Given the description of an element on the screen output the (x, y) to click on. 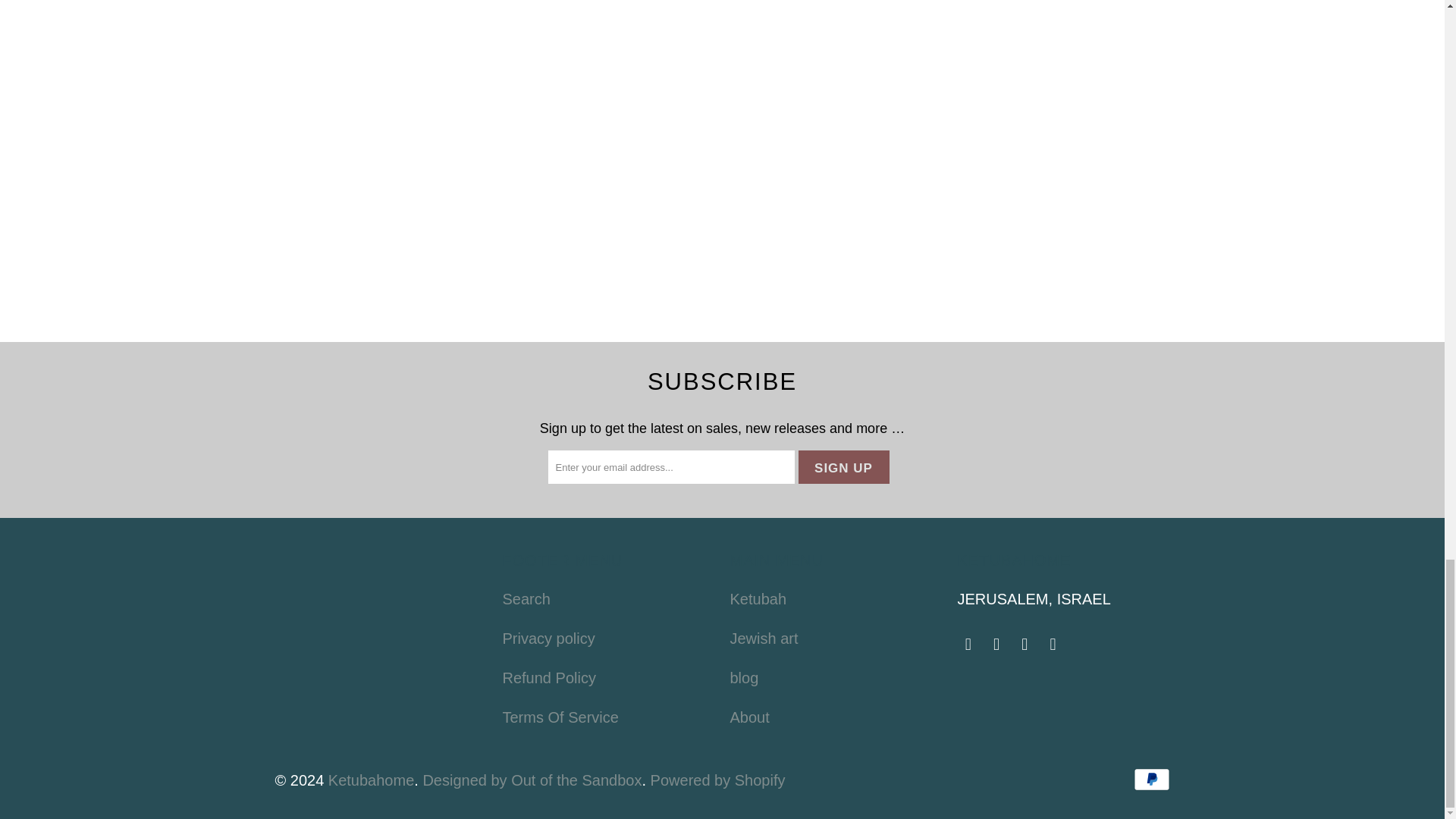
Ketubahome on YouTube (997, 644)
Ketubahome on Instagram (1053, 644)
PayPal (1150, 779)
Ketubahome on Pinterest (1024, 644)
Ketubahome on Facebook (967, 644)
Sign Up (842, 467)
